Given the description of an element on the screen output the (x, y) to click on. 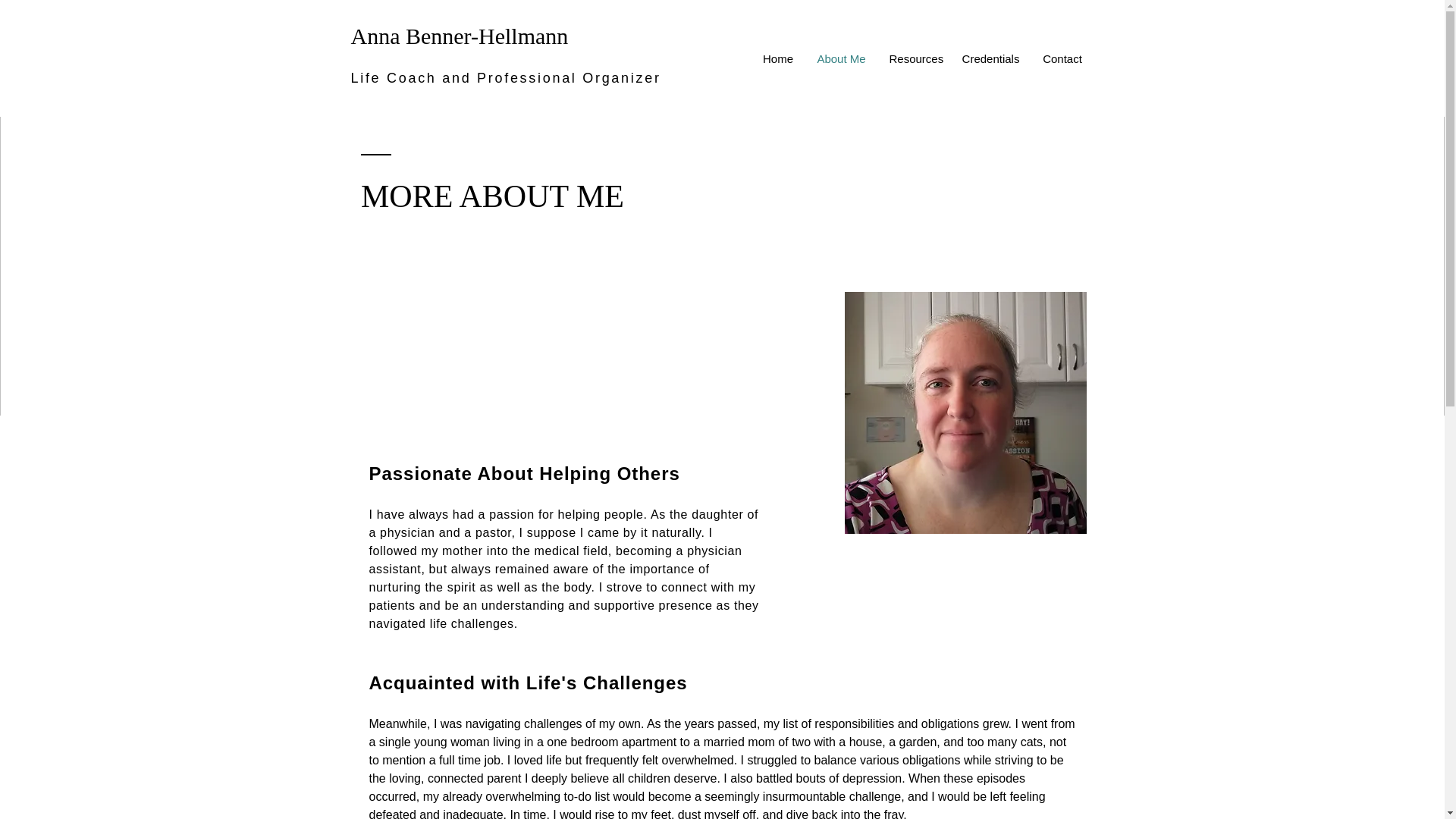
Anna Benner-Hellmann (458, 35)
About Me (841, 59)
Credentials (990, 59)
Resources (913, 59)
Life Coach and Professional Organizer (505, 77)
